Given the description of an element on the screen output the (x, y) to click on. 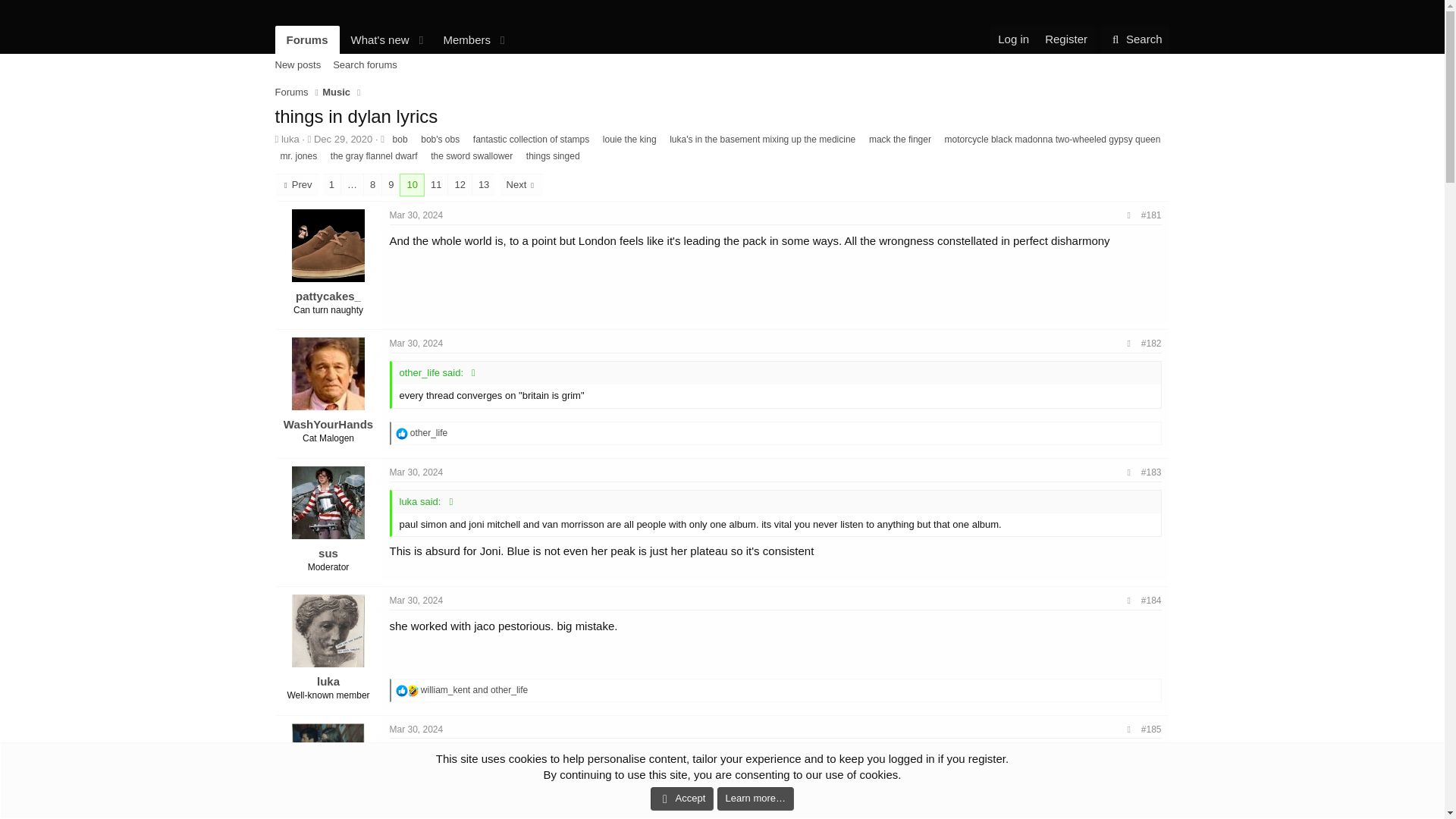
Haha (412, 690)
luka's in the basement mixing up the medicine (761, 140)
Forums (307, 39)
Mar 30, 2024 at 9:40 PM (417, 343)
Mar 30, 2024 at 9:36 PM (417, 214)
bob's obs (439, 140)
Dec 29, 2020 at 4:51 PM (343, 138)
Log in (1013, 39)
Search (1135, 39)
fantastic collection of stamps (530, 140)
Like (401, 433)
Search (392, 39)
Register (1135, 39)
